Given the description of an element on the screen output the (x, y) to click on. 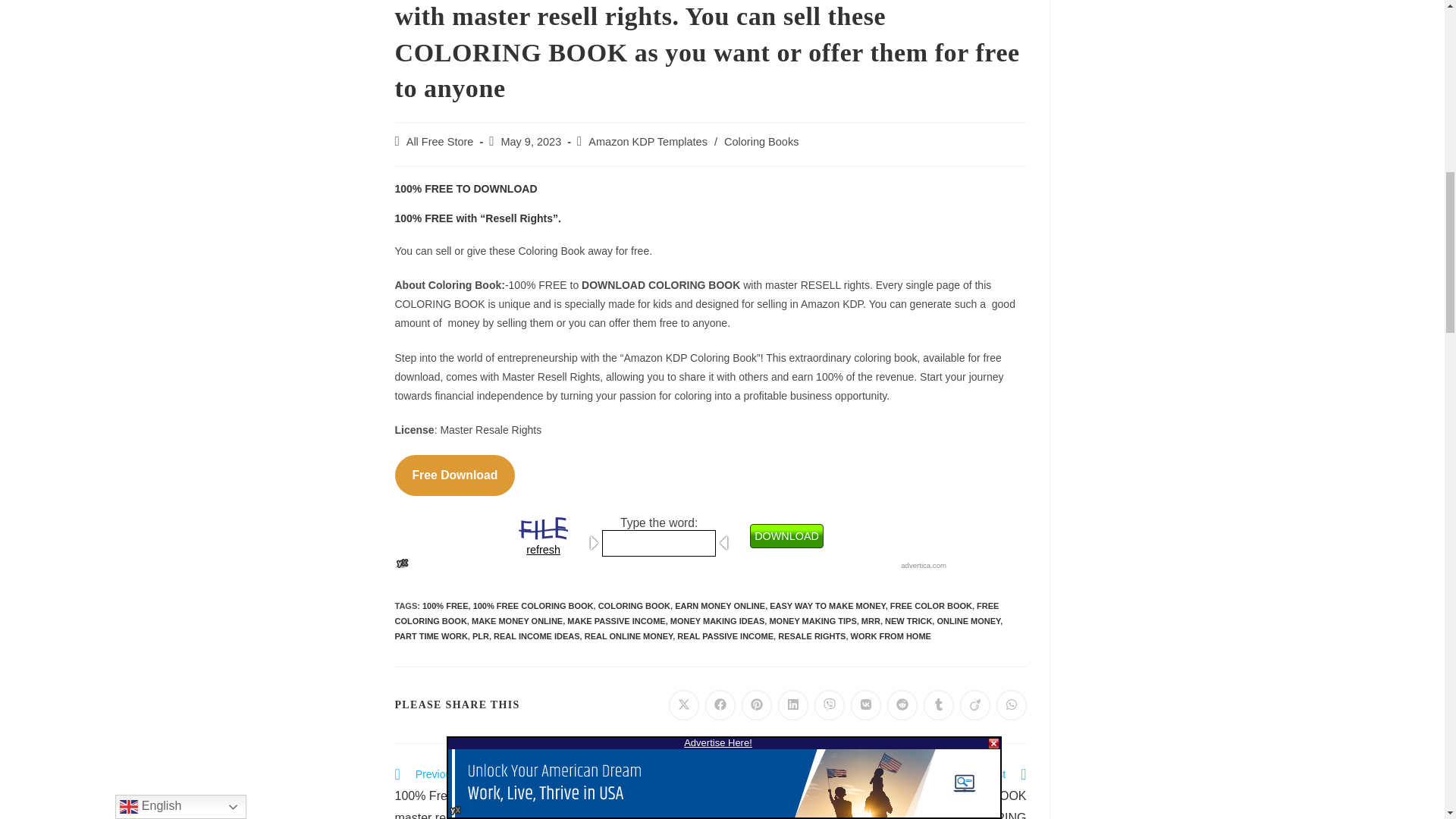
Posts by All Free Store (440, 141)
